Given the description of an element on the screen output the (x, y) to click on. 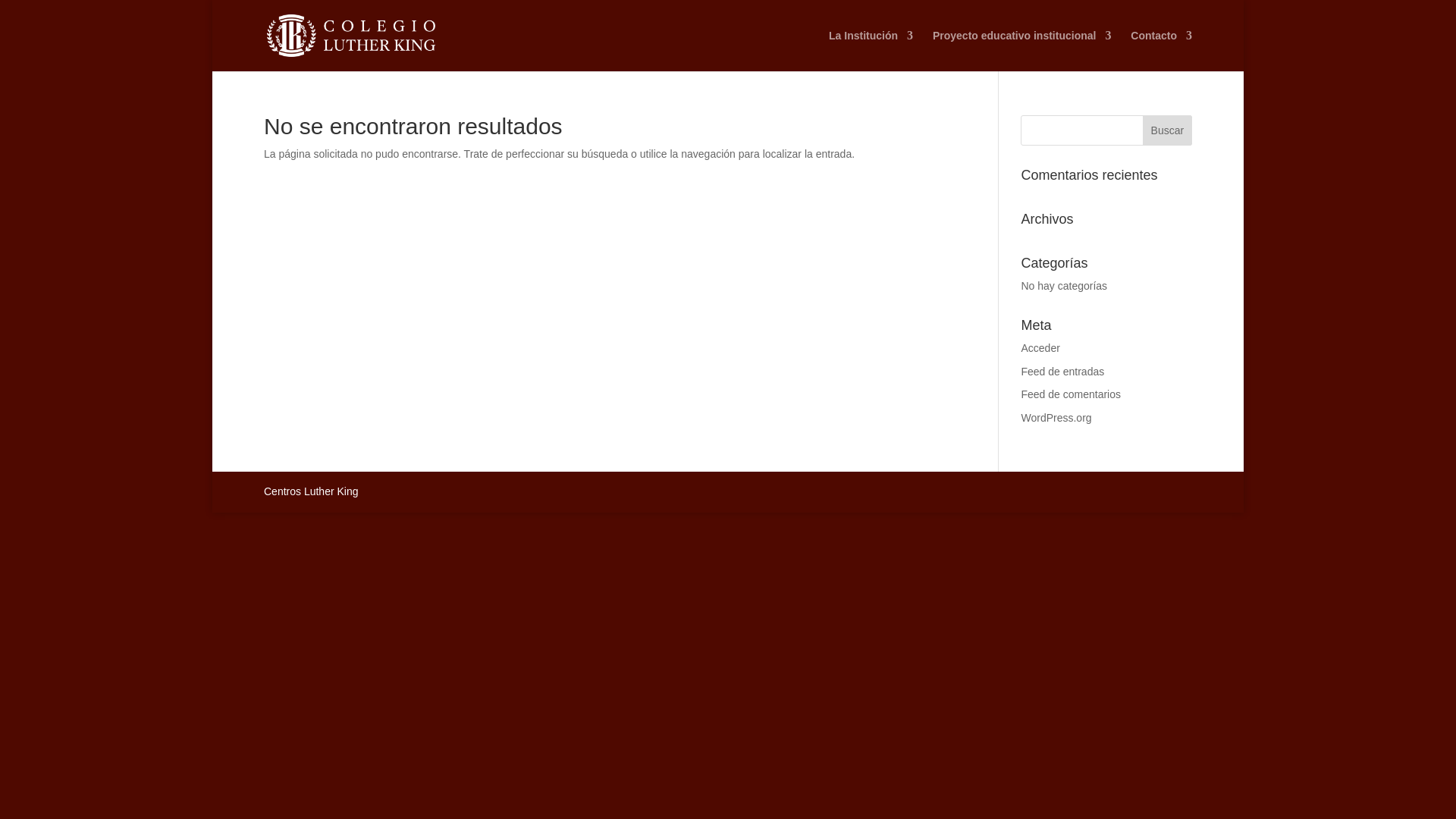
WordPress.org (1055, 417)
Buscar (1167, 130)
Feed de comentarios (1070, 394)
Acceder (1039, 347)
Buscar (1167, 130)
Contacto (1161, 50)
Proyecto educativo institucional (1022, 50)
Feed de entradas (1061, 371)
